Given the description of an element on the screen output the (x, y) to click on. 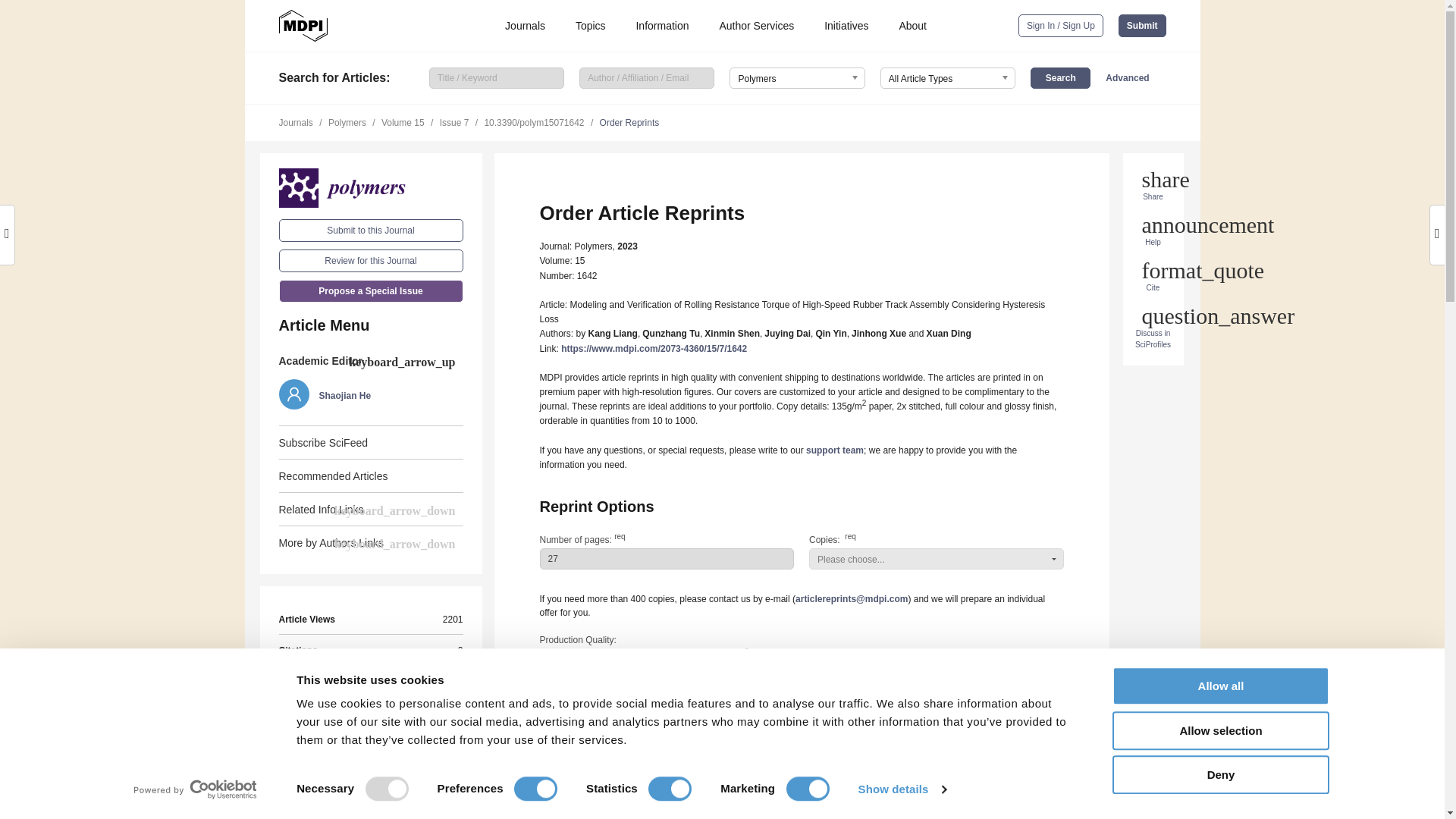
GBP (714, 737)
EUR (585, 737)
Search (1060, 77)
CAD (671, 737)
USD (629, 737)
27 (667, 558)
Show details (900, 789)
Search (1060, 77)
JPY (757, 737)
CHF (545, 737)
